Given the description of an element on the screen output the (x, y) to click on. 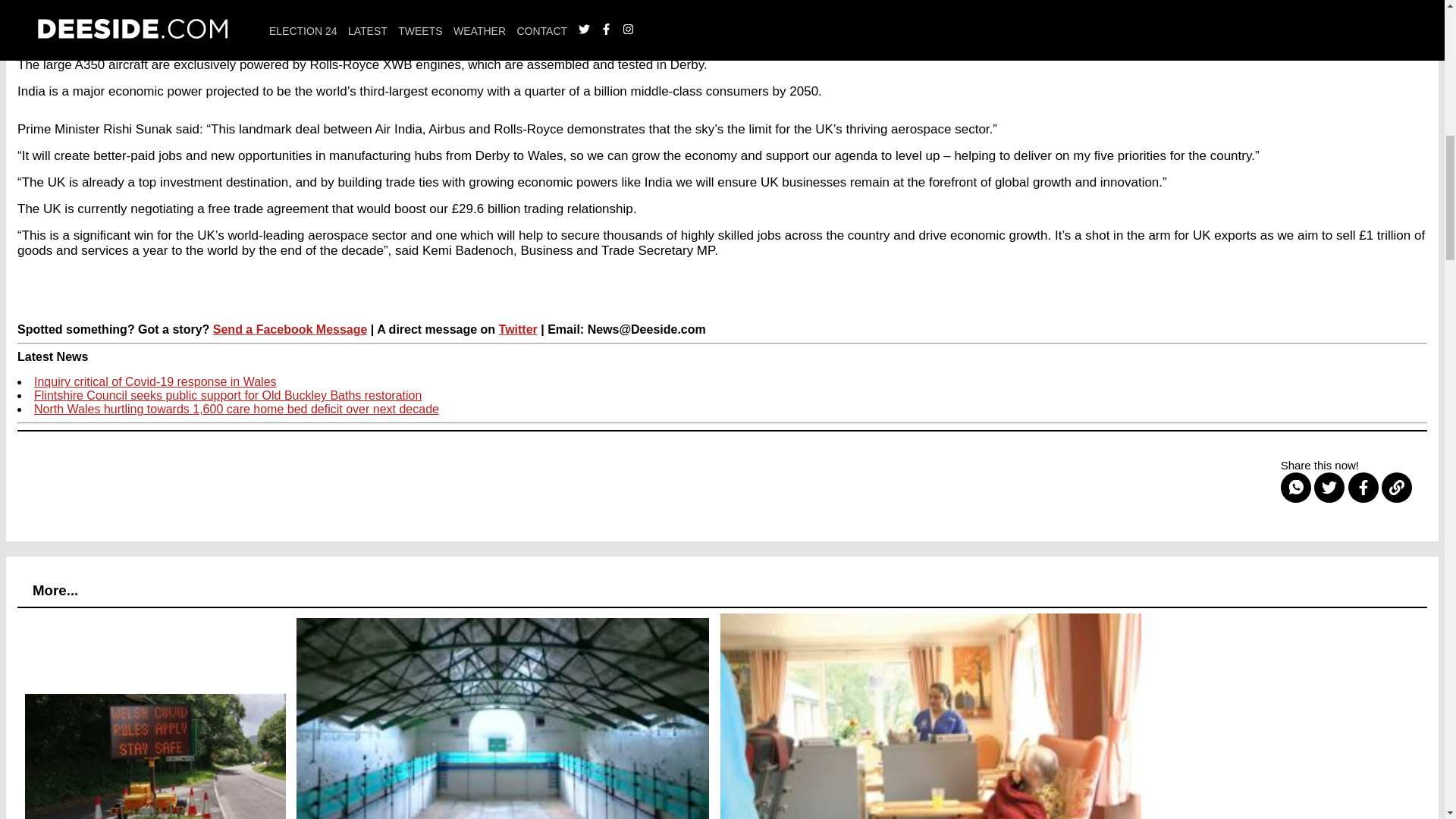
Send a Facebook Message (290, 328)
Twitter (518, 328)
Inquiry critical of Covid-19 response in Wales (154, 381)
